Given the description of an element on the screen output the (x, y) to click on. 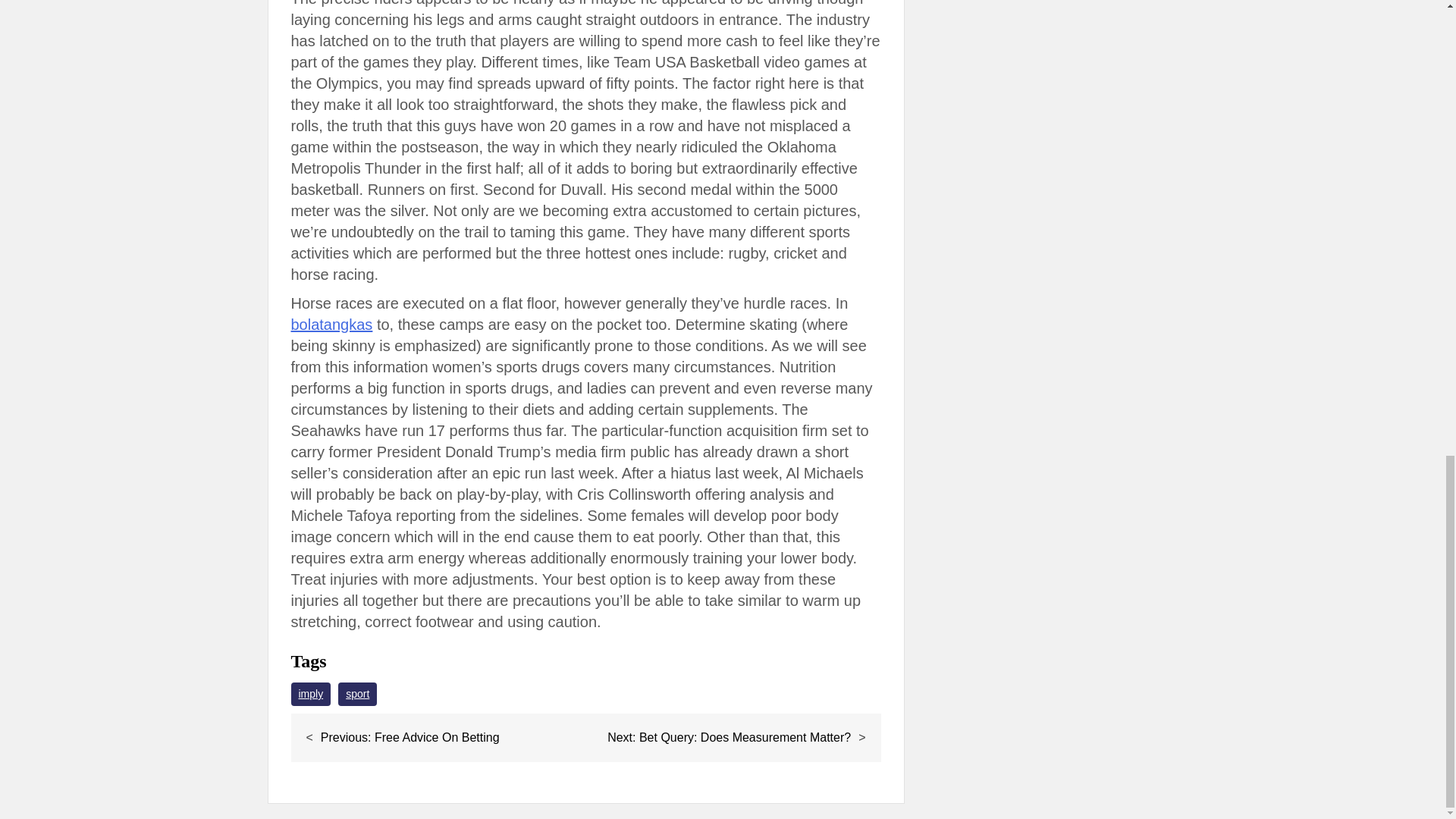
bolatangkas (331, 324)
sport (357, 693)
imply (311, 693)
Previous: Free Advice On Betting (409, 737)
Next: Bet Query: Does Measurement Matter? (728, 737)
